Given the description of an element on the screen output the (x, y) to click on. 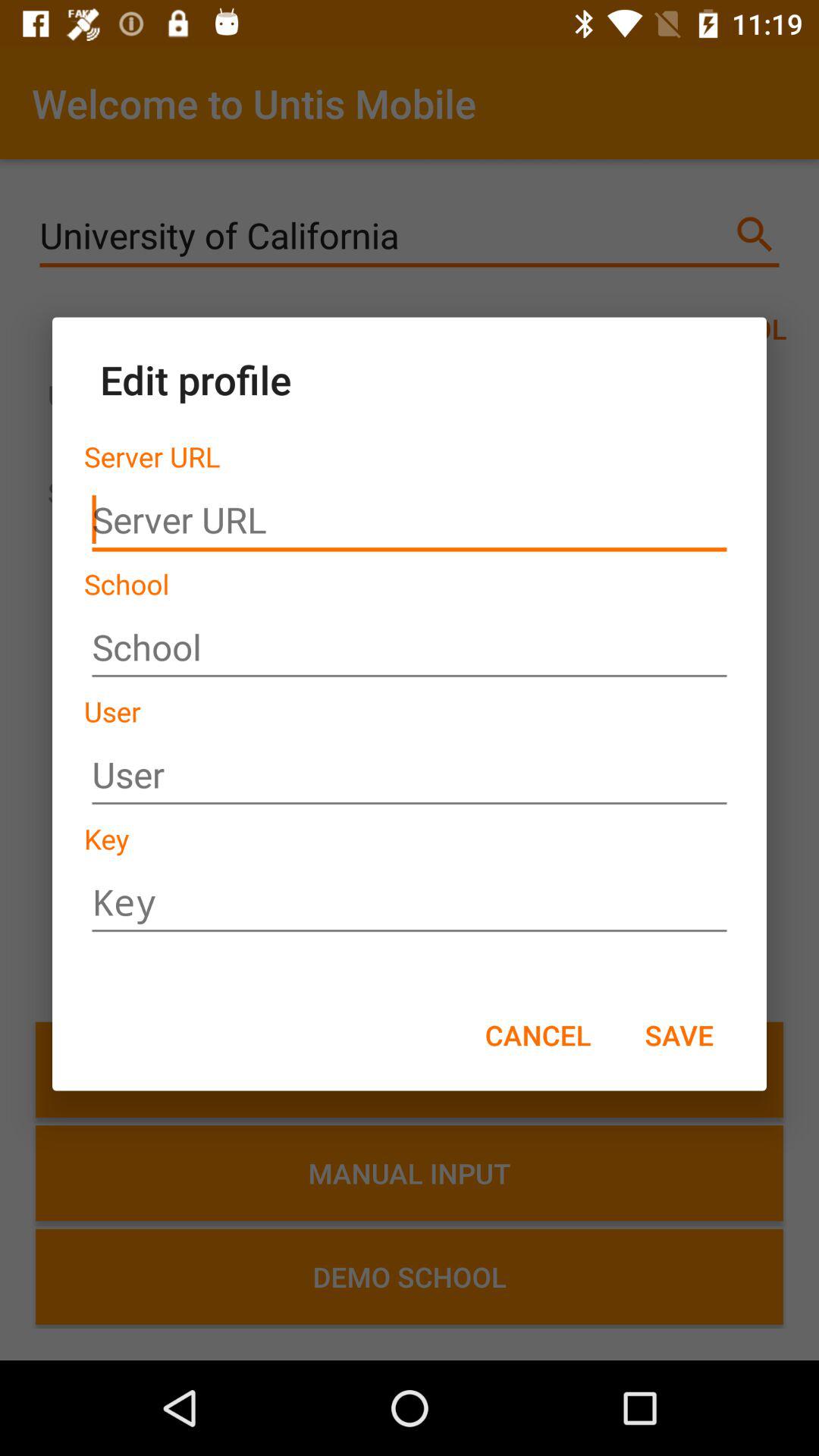
enter secret key (409, 902)
